Given the description of an element on the screen output the (x, y) to click on. 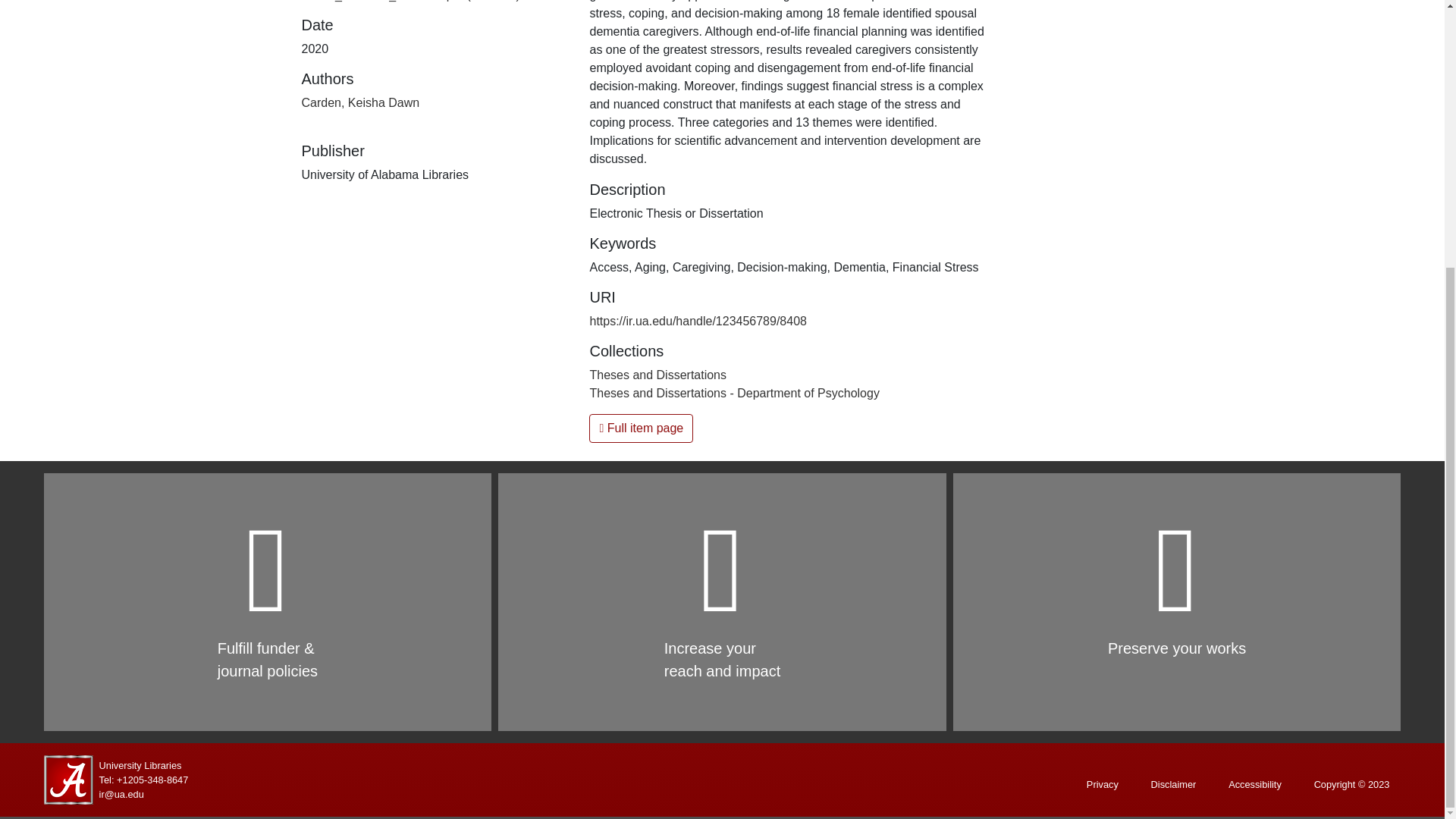
Carden, Keisha Dawn (360, 102)
Theses and Dissertations - Department of Psychology (734, 392)
Privacy (1102, 784)
Privacy (1102, 784)
Accessibility (1254, 784)
Theses and Dissertations (657, 374)
Accessibility (1254, 784)
Disclaimer (1174, 784)
University Libraries (140, 764)
Full item page (641, 428)
